Given the description of an element on the screen output the (x, y) to click on. 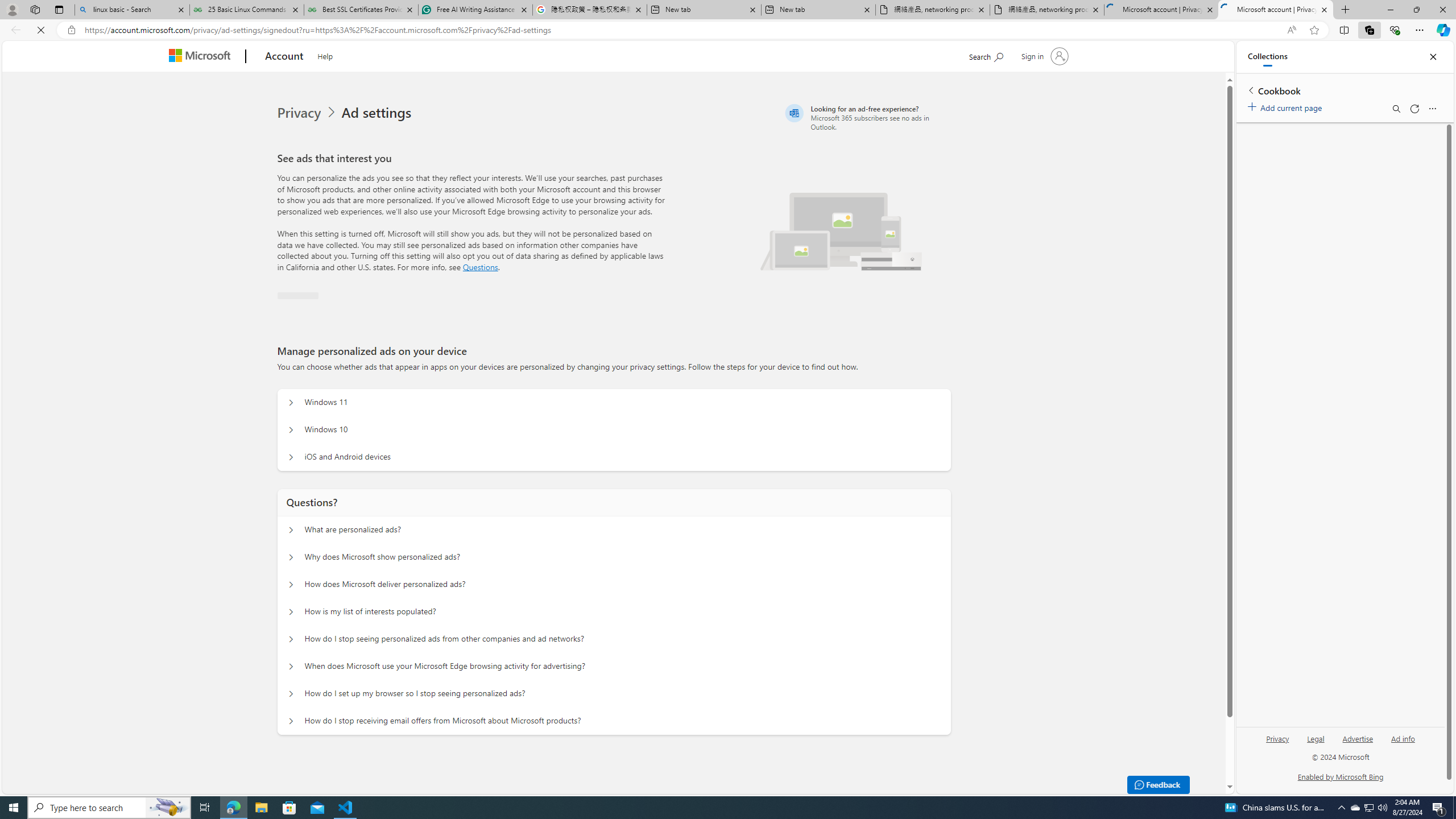
Privacy & cookies (834, 775)
Terms of use (898, 776)
linux basic - Search (132, 9)
